Given the description of an element on the screen output the (x, y) to click on. 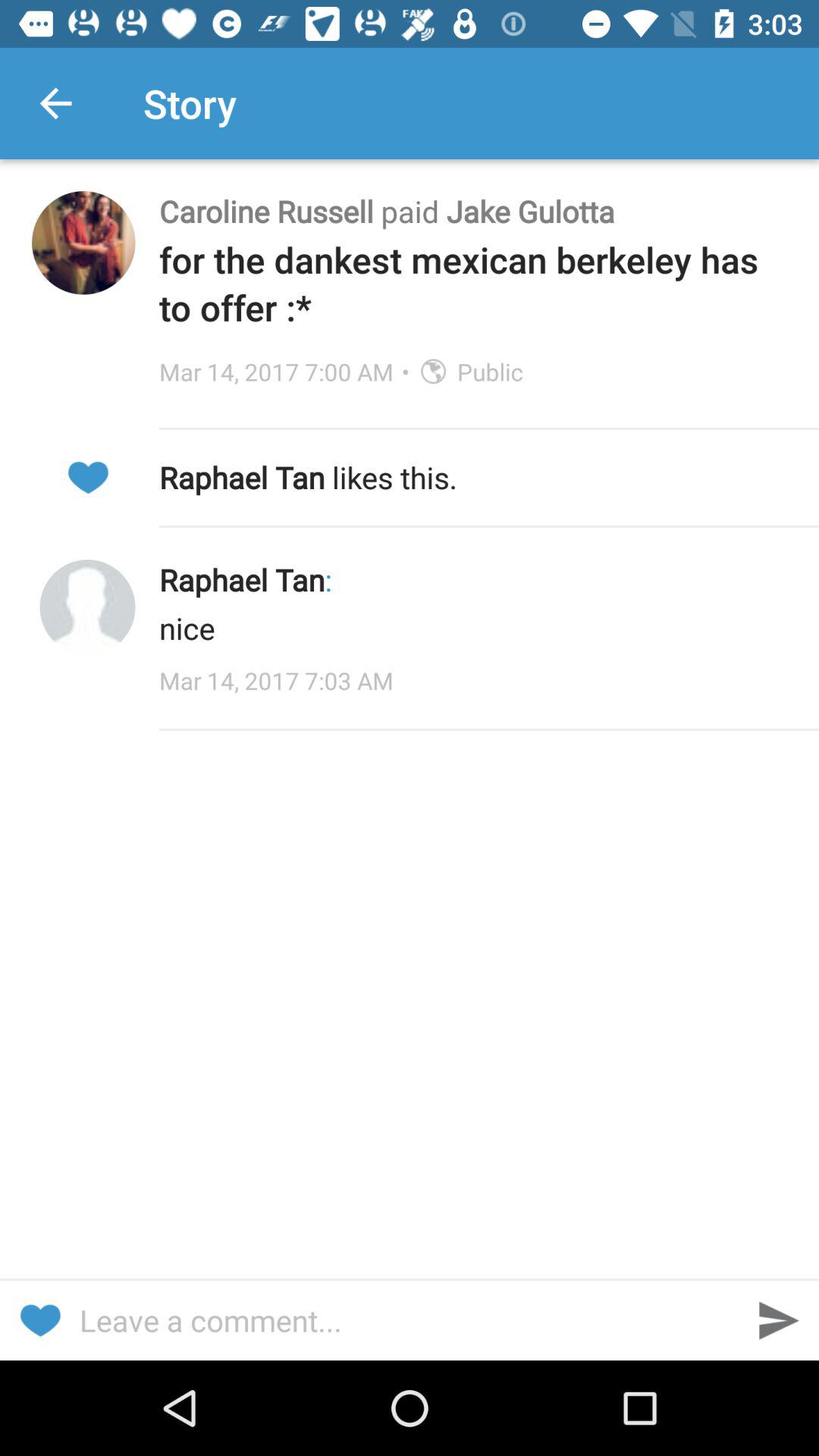
turn off the item below story (473, 211)
